Given the description of an element on the screen output the (x, y) to click on. 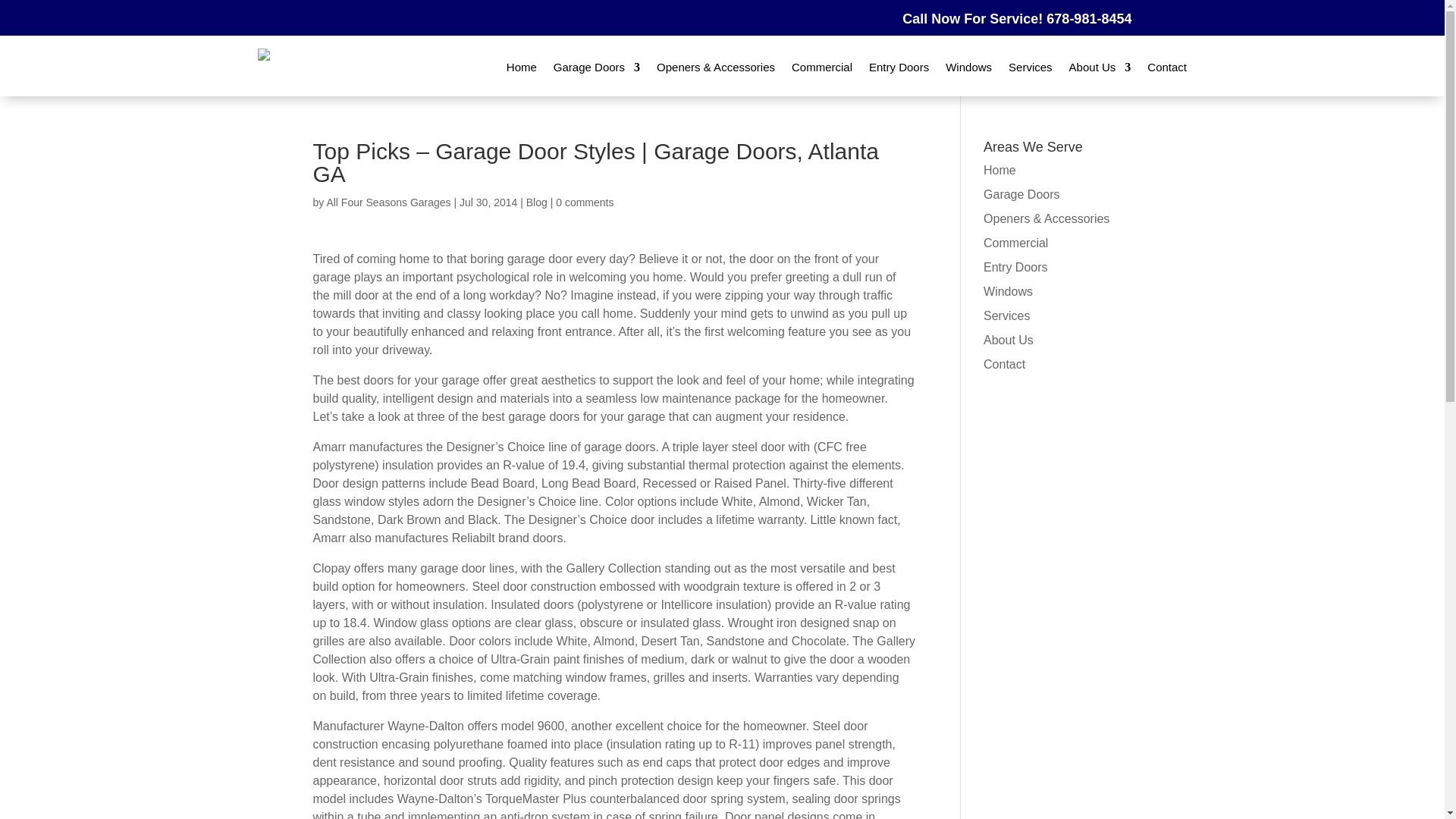
Home (1000, 169)
Services (1006, 315)
678-981-8454 (1088, 18)
Posts by All Four Seasons Garages (387, 202)
Contact (1004, 364)
Commercial (1016, 242)
All Four Seasons Garages (387, 202)
Entry Doors (898, 67)
Windows (1008, 291)
0 comments (584, 202)
